Given the description of an element on the screen output the (x, y) to click on. 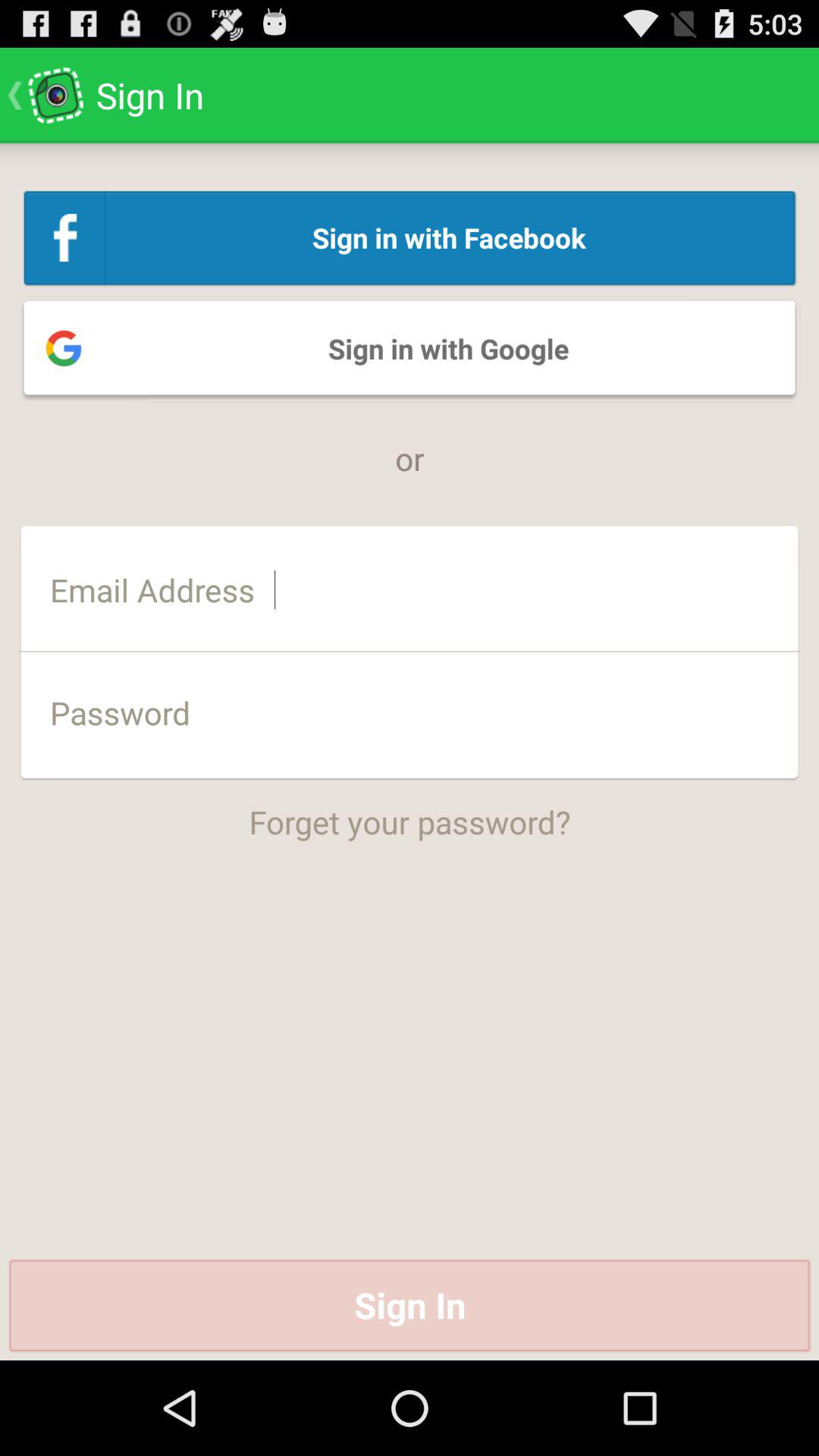
swipe until forget your password? icon (409, 811)
